Given the description of an element on the screen output the (x, y) to click on. 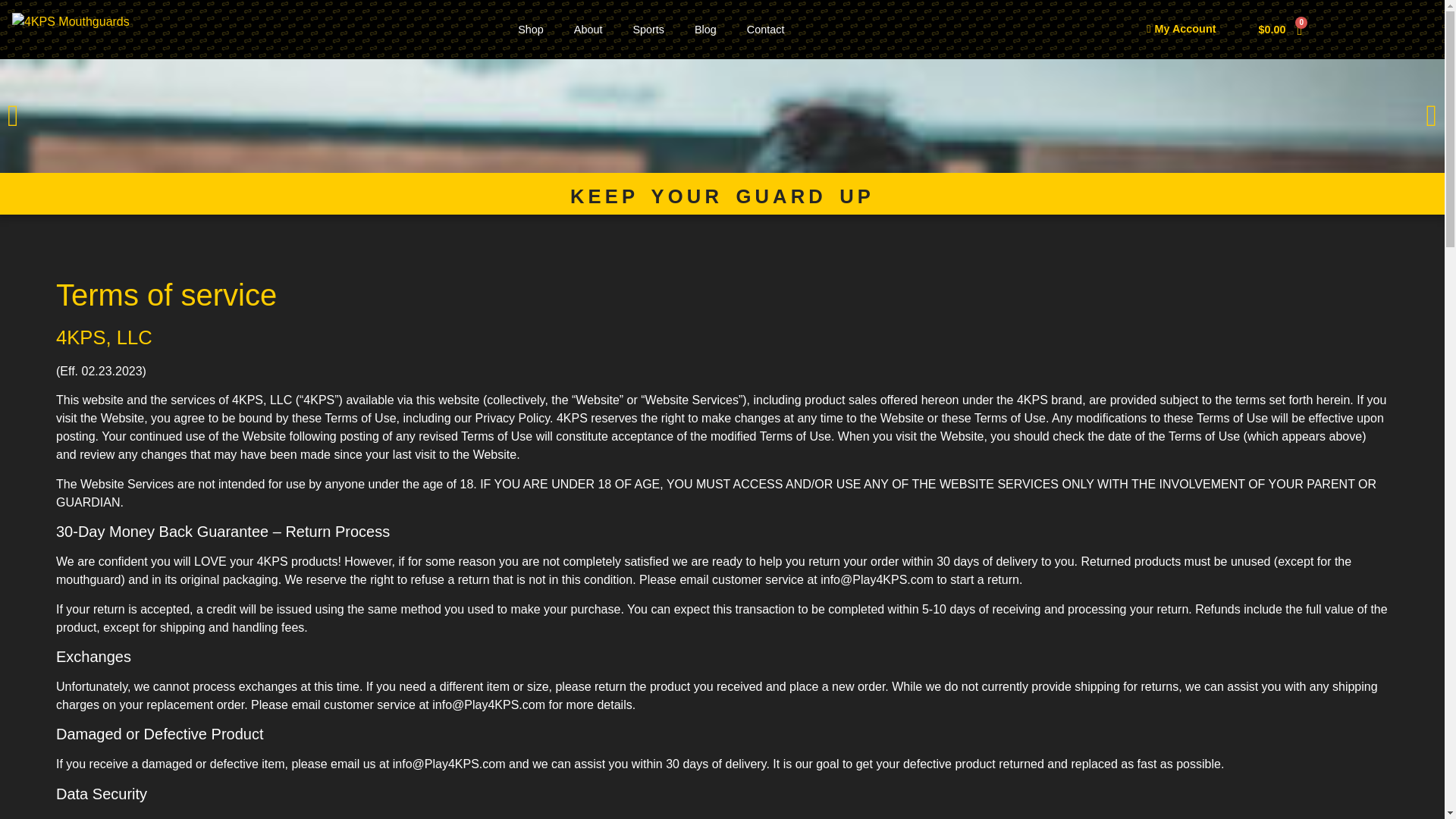
Blog (705, 29)
Sports (648, 29)
Contact (765, 29)
My Account (1181, 30)
Shop (530, 29)
4KPS logo reg (70, 22)
About (588, 29)
